Given the description of an element on the screen output the (x, y) to click on. 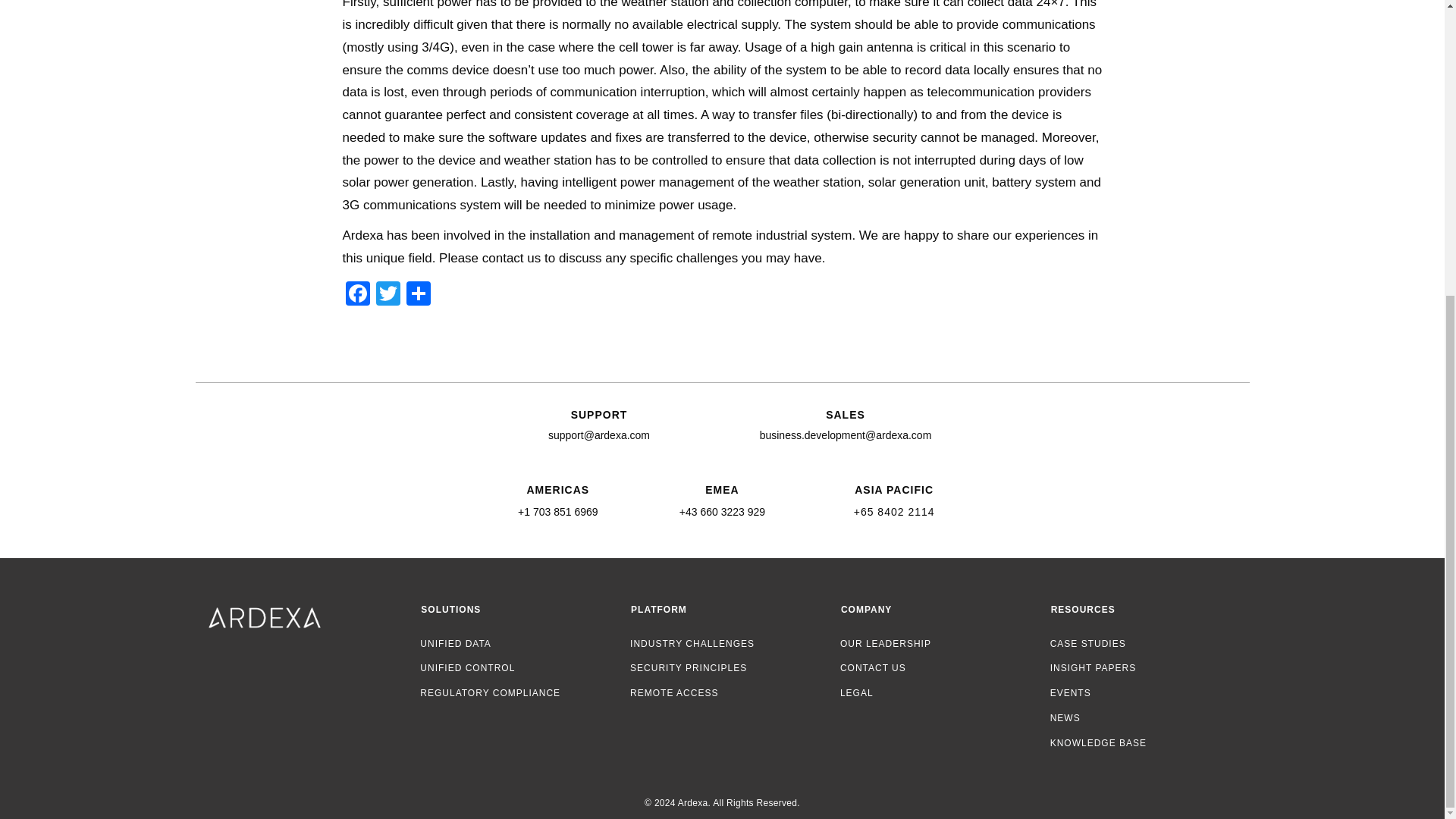
Facebook (357, 295)
Twitter (387, 295)
